Given the description of an element on the screen output the (x, y) to click on. 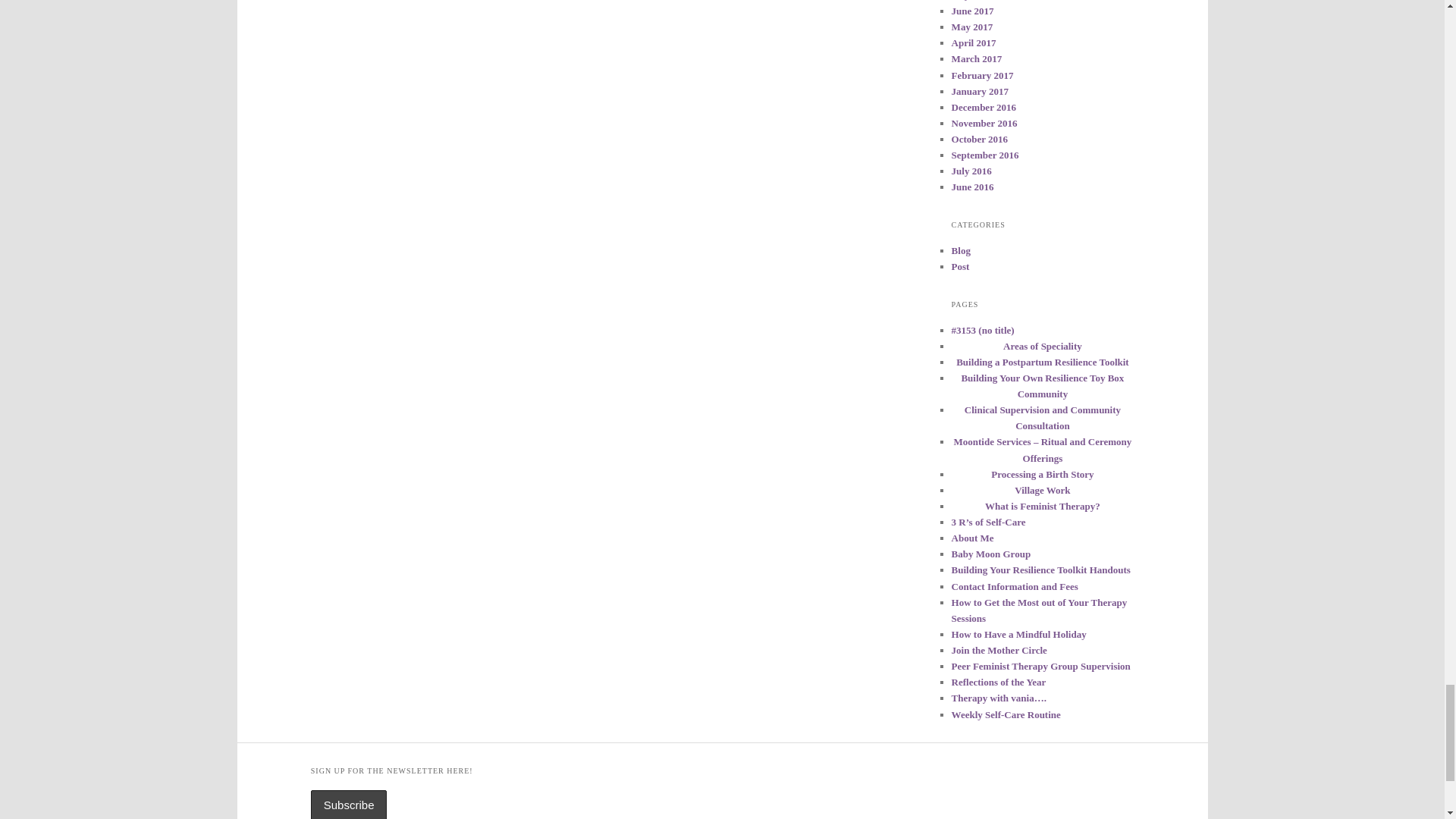
Subscribe (349, 804)
